Given the description of an element on the screen output the (x, y) to click on. 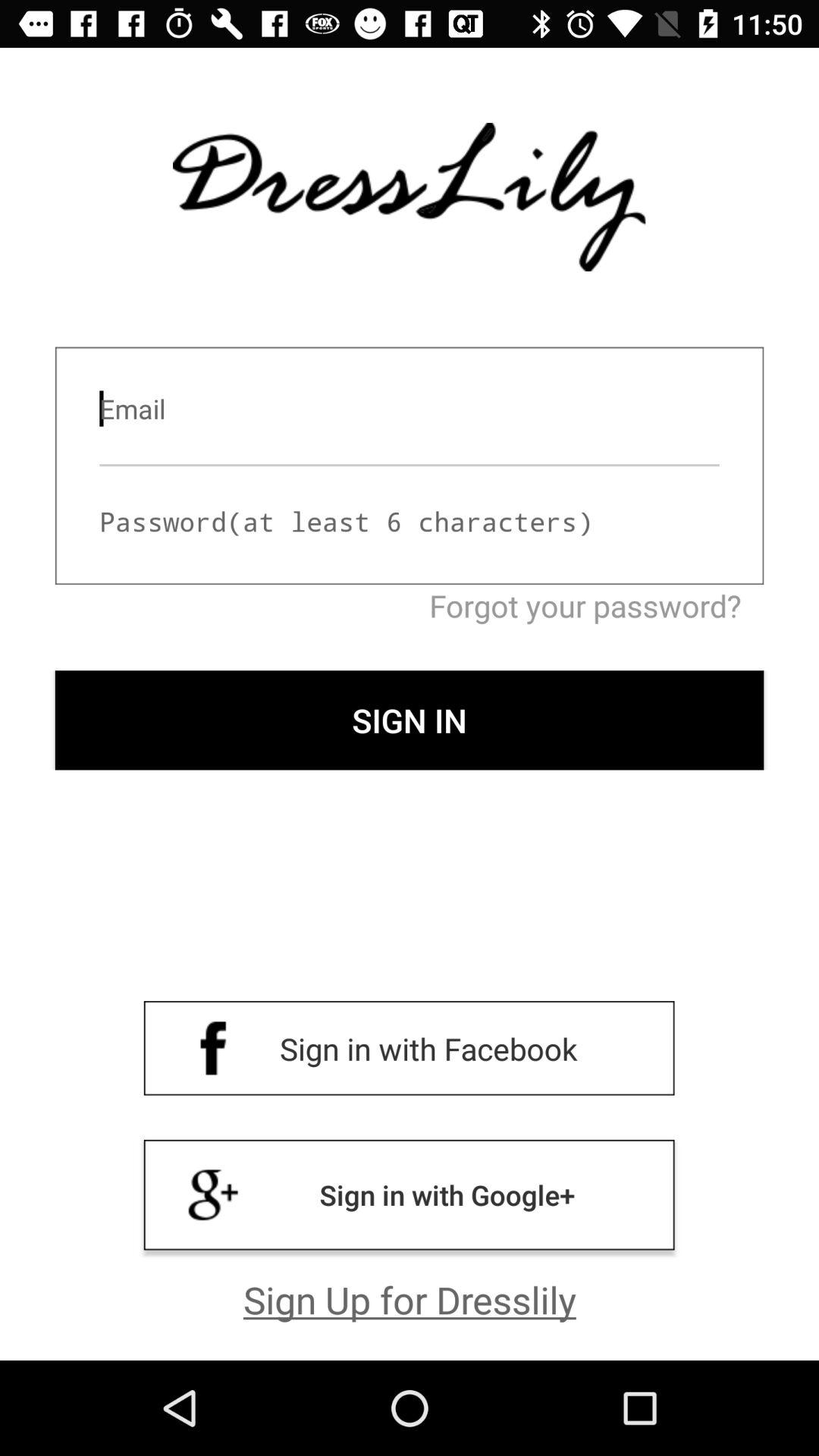
jump until the forgot your password? icon (409, 605)
